Given the description of an element on the screen output the (x, y) to click on. 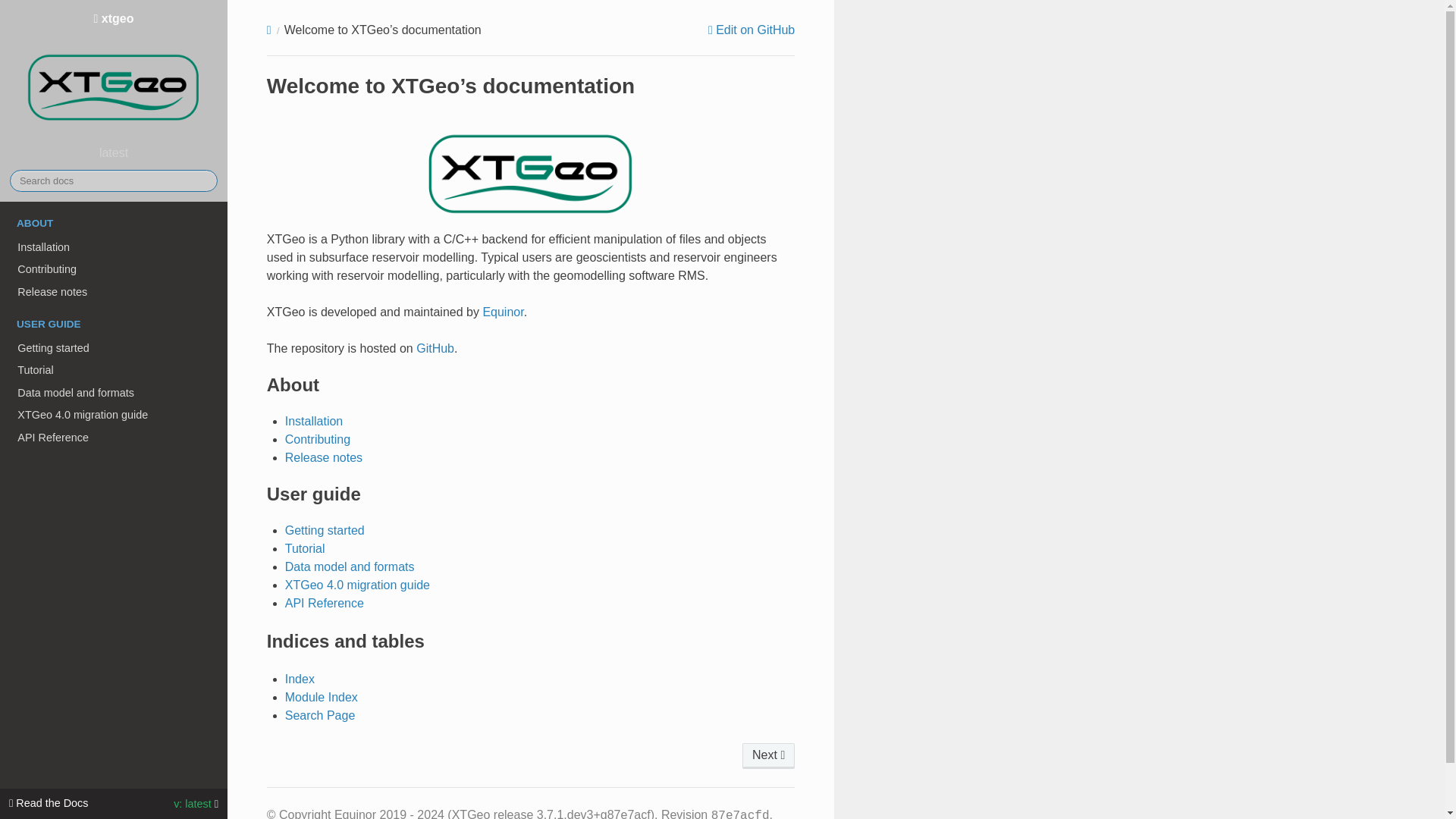
XTGeo 4.0 migration guide (357, 584)
Contributing (317, 439)
Data model and formats (113, 392)
Getting started (113, 347)
Data model and formats (349, 566)
Release notes (113, 291)
Module Index (321, 697)
XTGeo 4.0 migration guide (113, 415)
Search Page (320, 715)
Tutorial (304, 548)
